Given the description of an element on the screen output the (x, y) to click on. 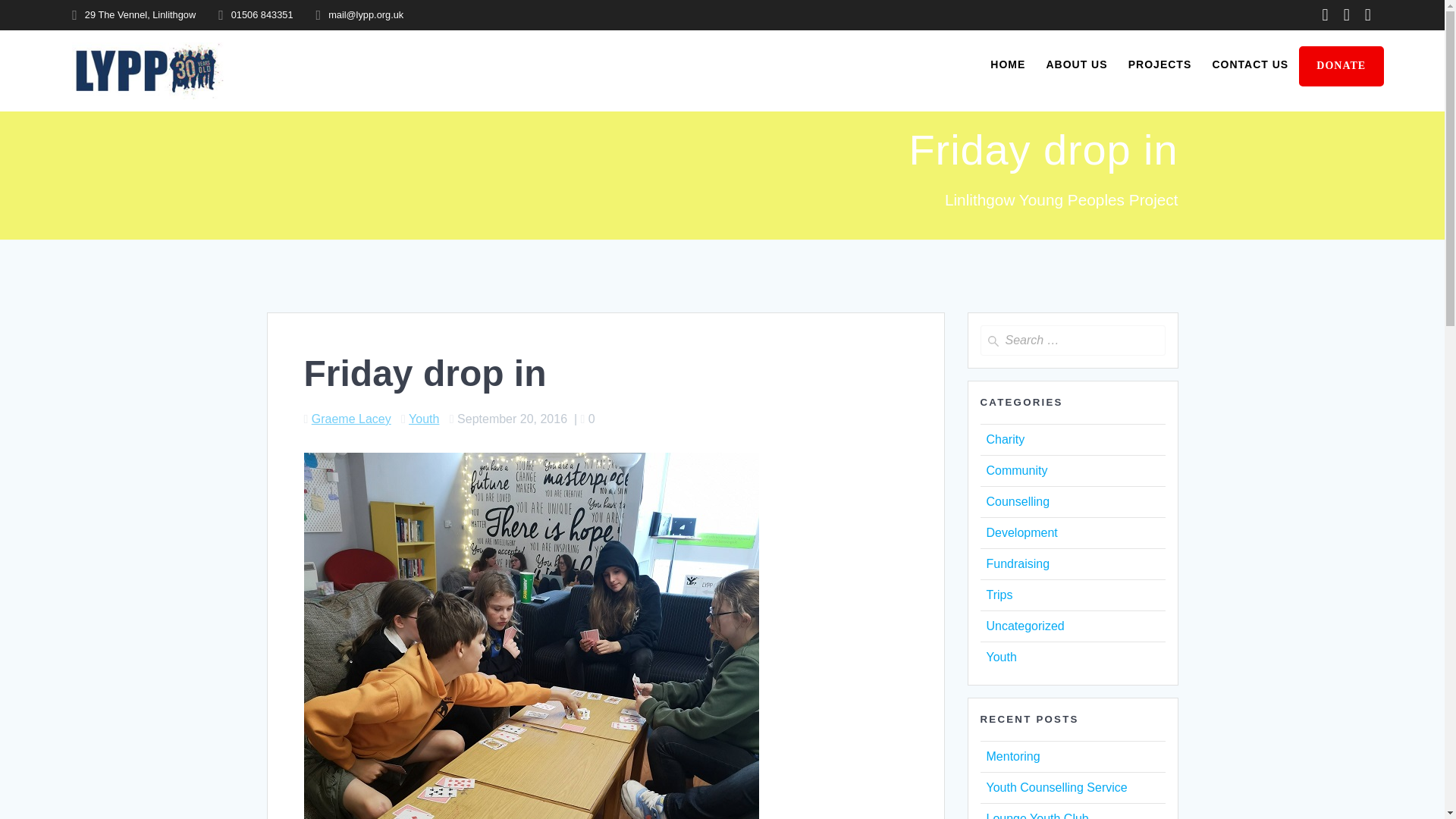
Mentoring (1012, 756)
Trips (998, 594)
Community (1015, 470)
HOME (1007, 64)
Graeme Lacey (351, 418)
Youth Counselling Service (1055, 787)
Counselling (1017, 501)
PROJECTS (1159, 64)
Fundraising (1017, 563)
Development (1021, 532)
Youth (1000, 656)
Charity (1005, 439)
Lounge Youth Club (1036, 815)
CONTACT US (1249, 64)
Posts by Graeme Lacey (351, 418)
